Given the description of an element on the screen output the (x, y) to click on. 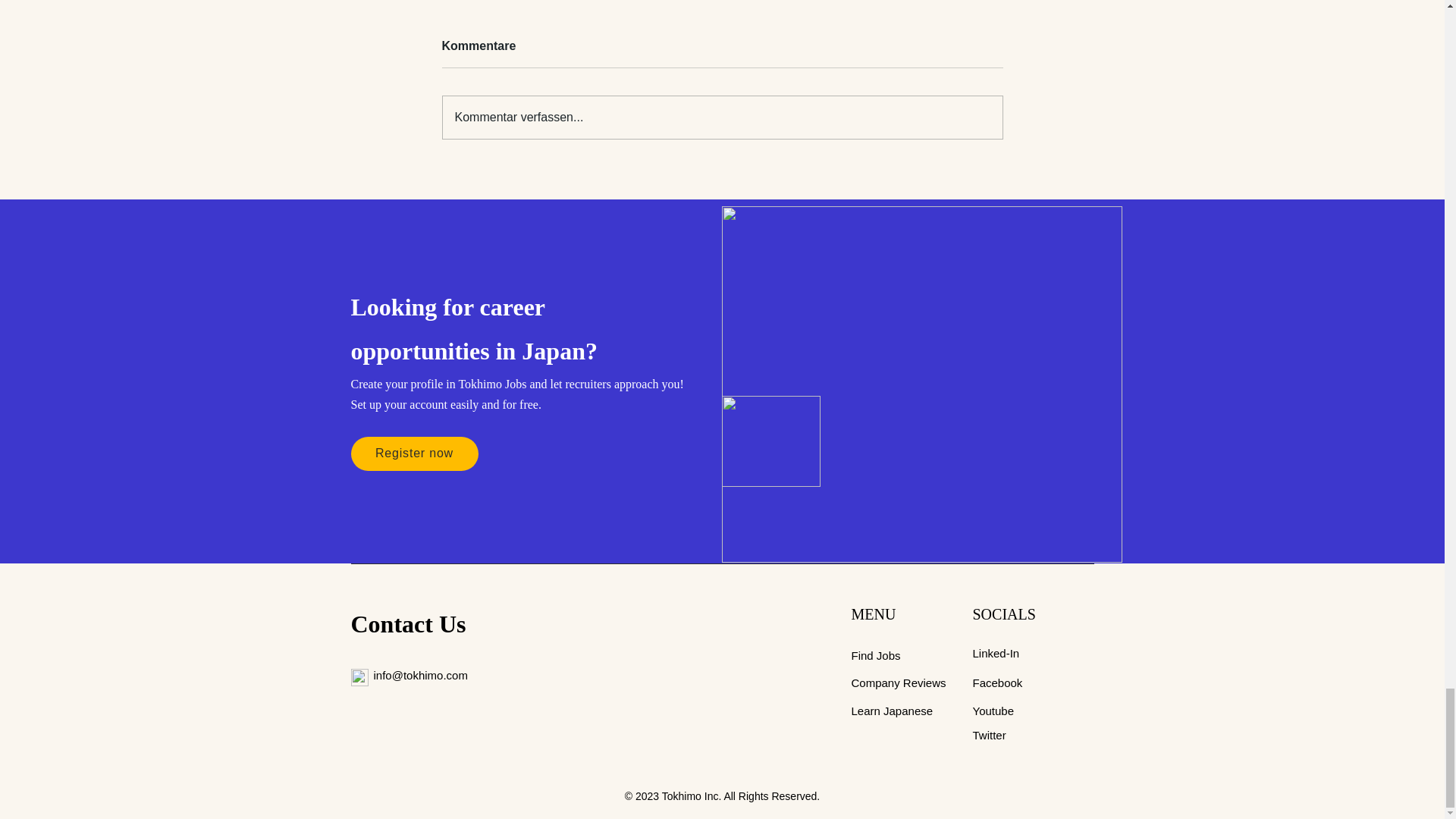
Illustration.png (771, 440)
Sketch-annotation-element-brush-pen-icon-email-envilope.png (359, 677)
